Given the description of an element on the screen output the (x, y) to click on. 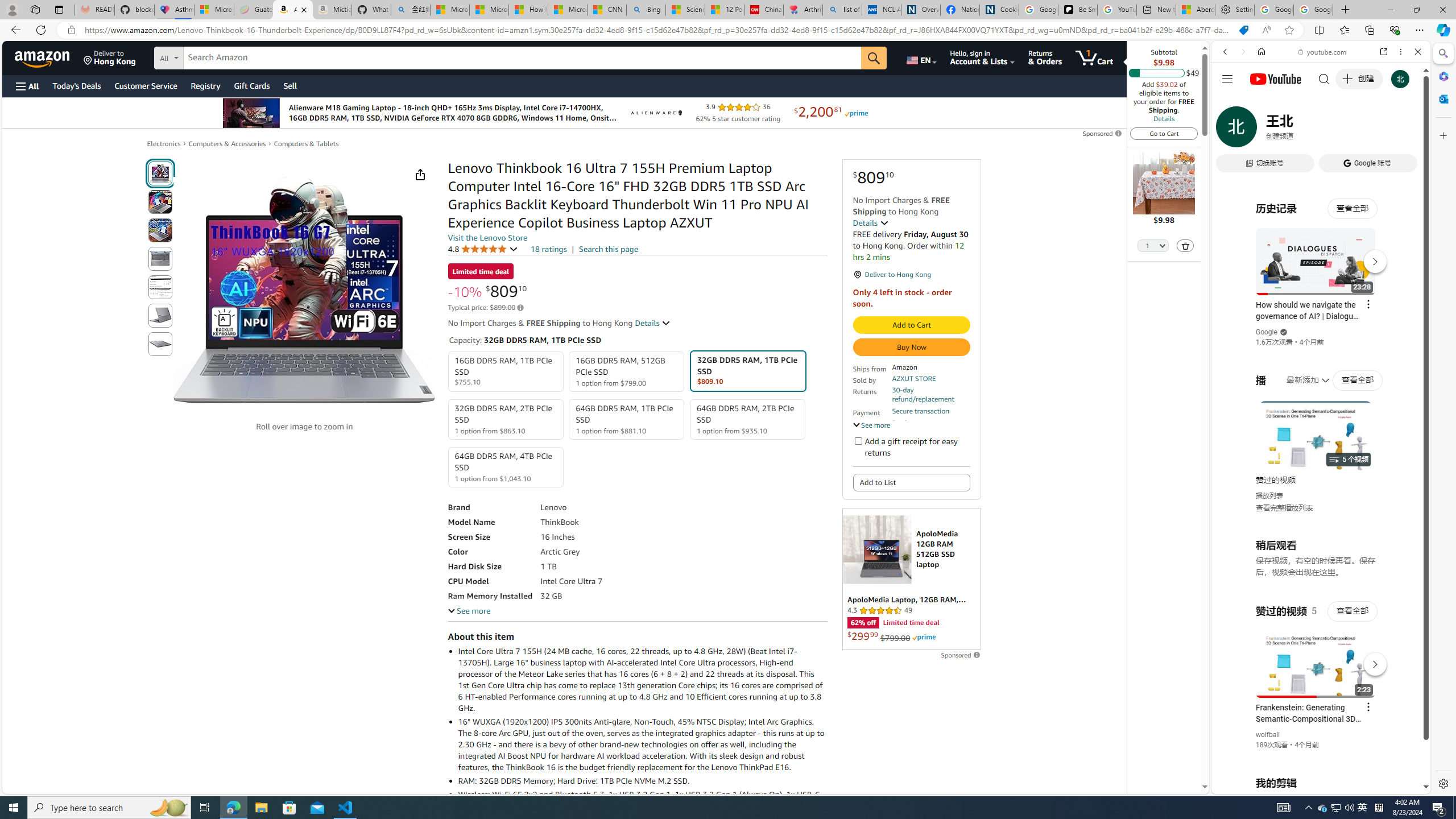
Actions for this site (1371, 661)
IMAGES (1262, 130)
Sponsored ad (911, 578)
30-day refund/replacement (930, 394)
Close (1417, 51)
Trailer #2 [HD] (1320, 337)
Split screen (1318, 29)
4.8 4.8 out of 5 stars (482, 248)
See more (468, 610)
VIDEOS (1300, 130)
16GB DDR5 RAM, 512GB PCIe SSD 1 option from $799.00 (626, 371)
